Given the description of an element on the screen output the (x, y) to click on. 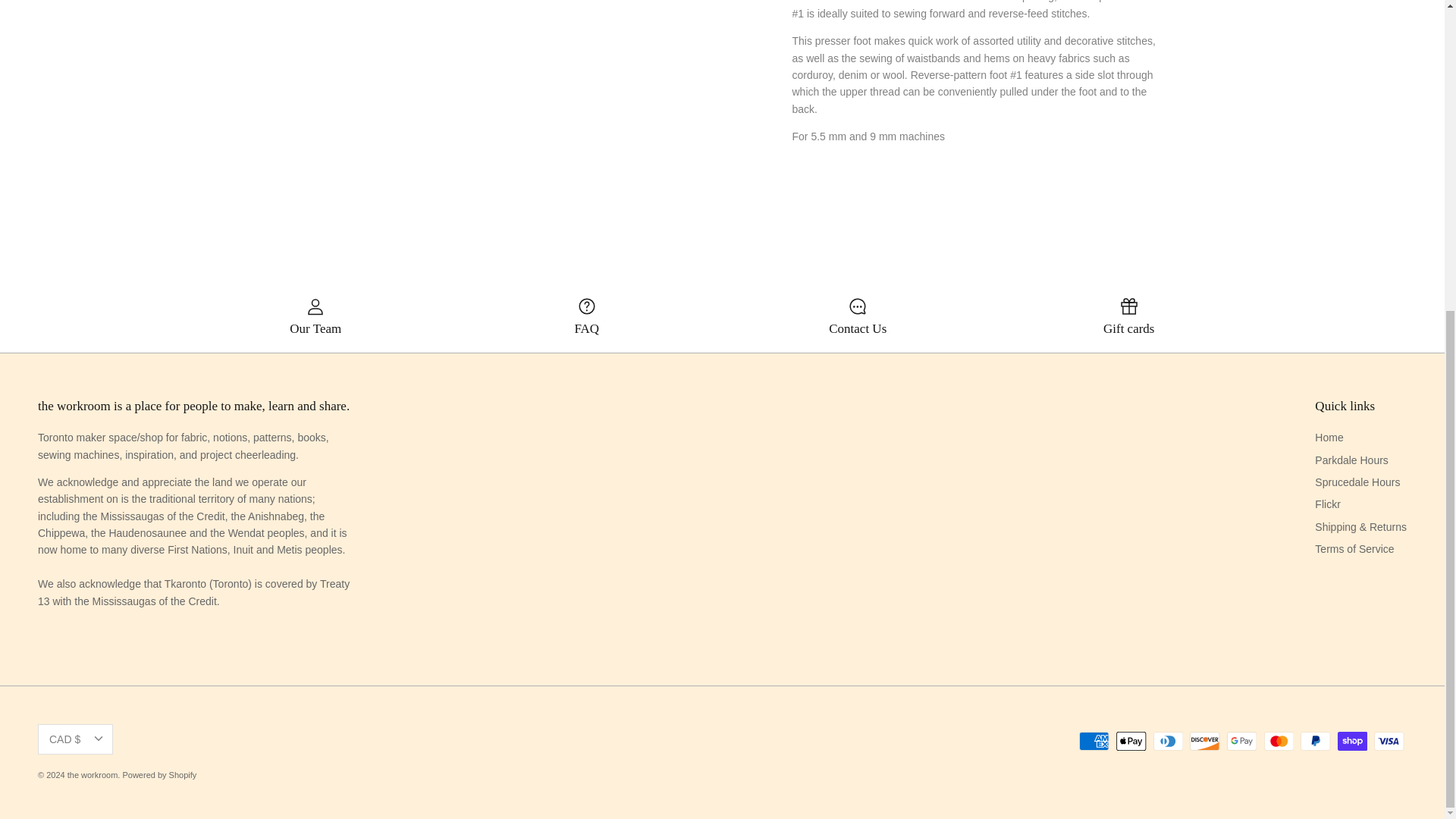
PayPal (1315, 741)
Apple Pay (1130, 741)
Visa (1388, 741)
Shop Pay (1352, 741)
Diners Club (1168, 741)
American Express (1093, 741)
Discover (1204, 741)
Mastercard (1277, 741)
Down (97, 738)
Google Pay (1241, 741)
